Given the description of an element on the screen output the (x, y) to click on. 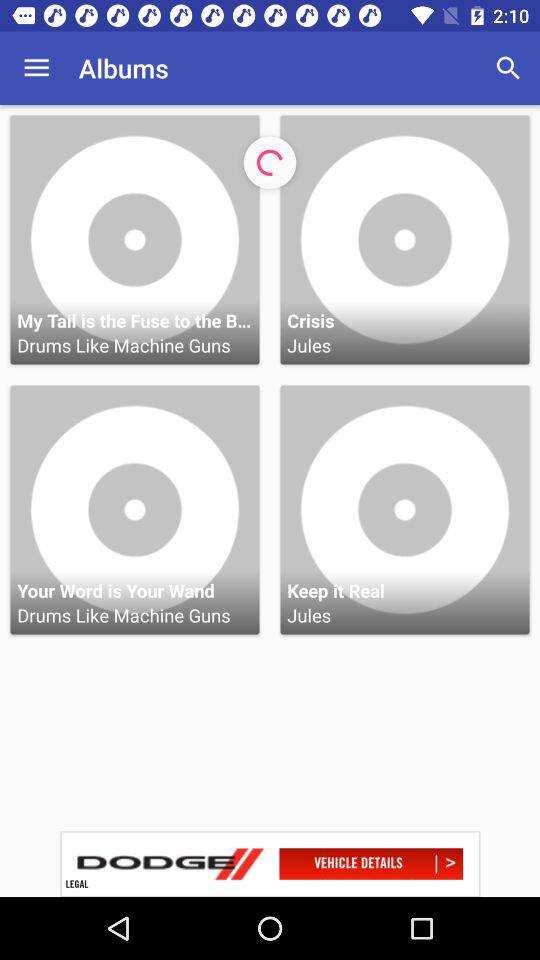
click on the crisis jules music album (404, 240)
go to the first option in first row (134, 240)
click on search icon which is on the right side of albums (508, 68)
select a second image which is below albums on a left side of page (134, 509)
select loading icon on a page (269, 163)
